Given the description of an element on the screen output the (x, y) to click on. 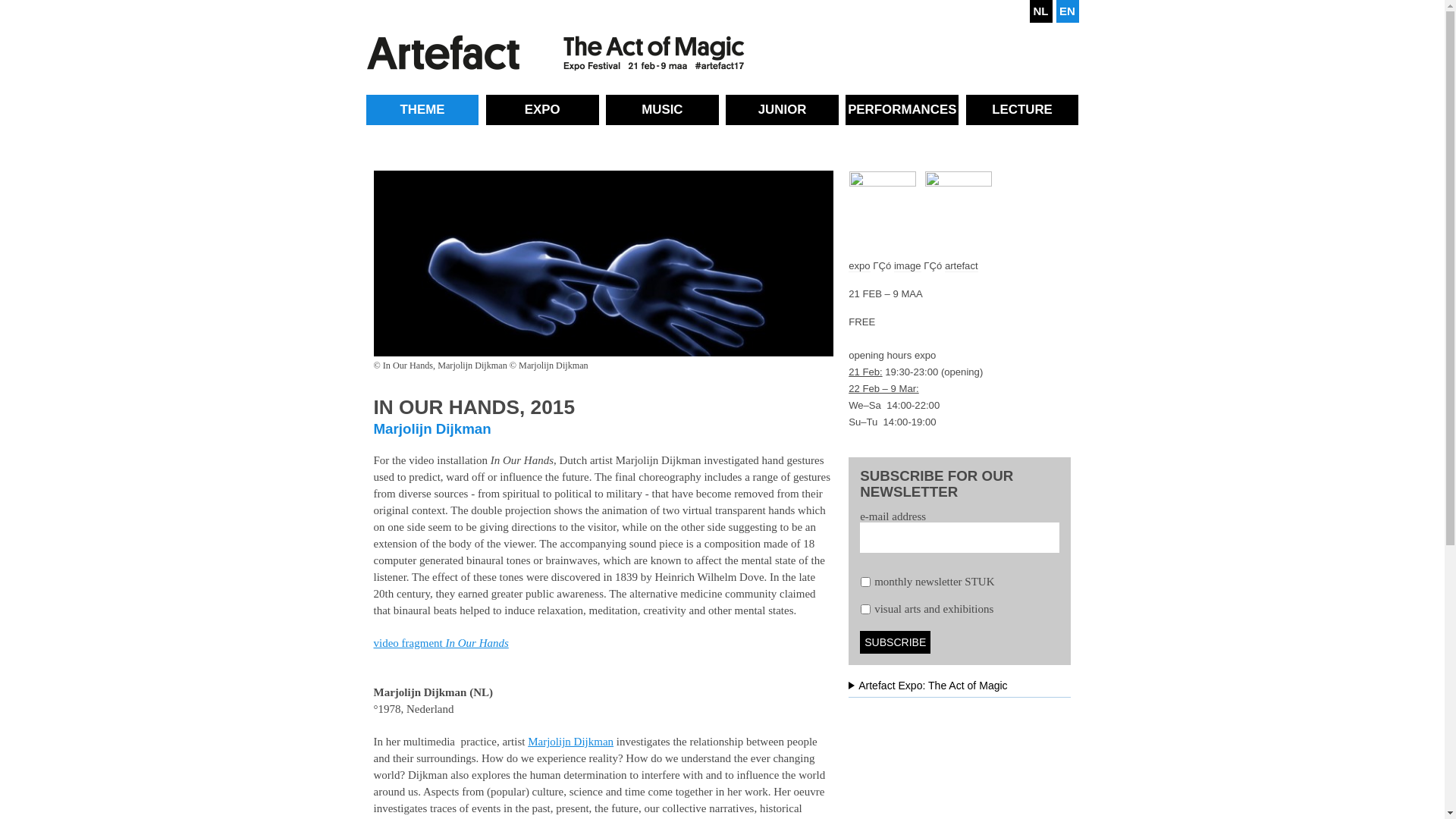
Skip to main content Element type: text (47, 0)
MUSIC Element type: text (661, 109)
Marjolijn Dijkman Element type: text (570, 741)
artefact Element type: text (961, 266)
Home Element type: hover (554, 53)
PERFORMANCES Element type: text (901, 109)
video fragment In Our Hands Element type: text (440, 643)
JUNIOR Element type: text (781, 109)
NL Element type: text (1040, 11)
THEME Element type: text (421, 109)
LECTURE Element type: text (1022, 109)
Artefact Expo: The Act of Magic Element type: text (959, 688)
EXPO Element type: text (542, 109)
EN Element type: text (1066, 11)
SUBSCRIBE Element type: text (894, 641)
image Element type: text (907, 266)
twitter Element type: text (952, 11)
expo Element type: text (858, 266)
youtube Element type: text (995, 11)
facebook Element type: text (902, 11)
